Given the description of an element on the screen output the (x, y) to click on. 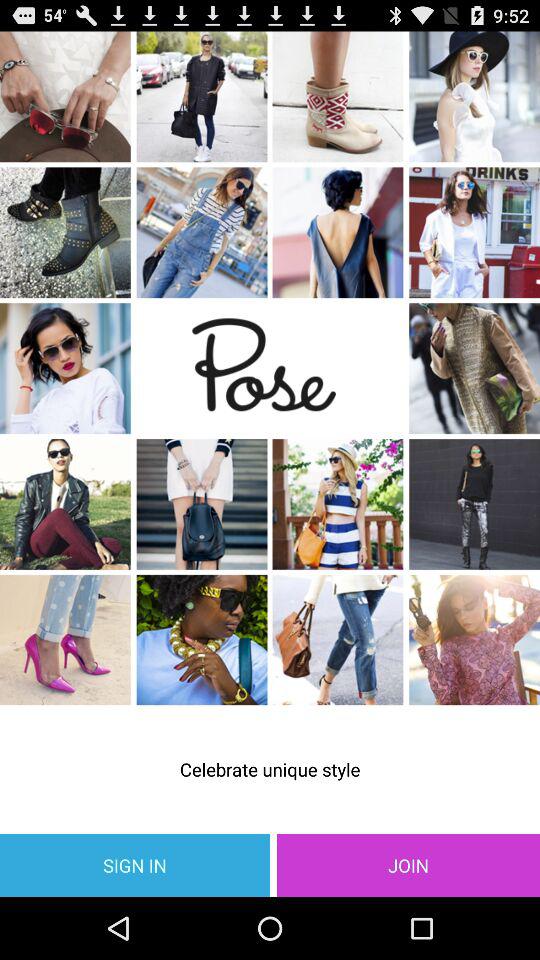
select item below celebrate unique style (408, 864)
